Given the description of an element on the screen output the (x, y) to click on. 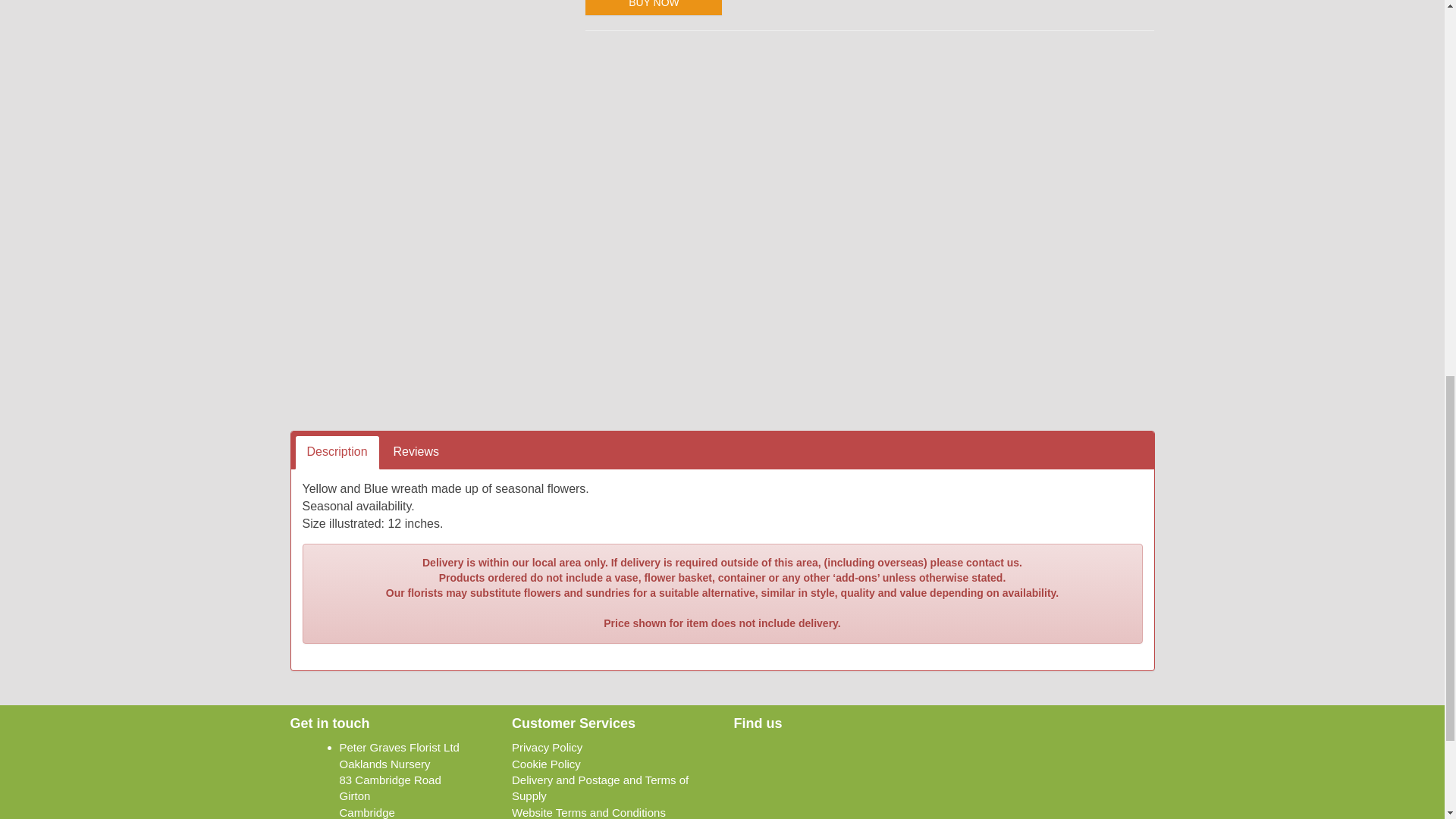
BUY NOW (653, 7)
